Given the description of an element on the screen output the (x, y) to click on. 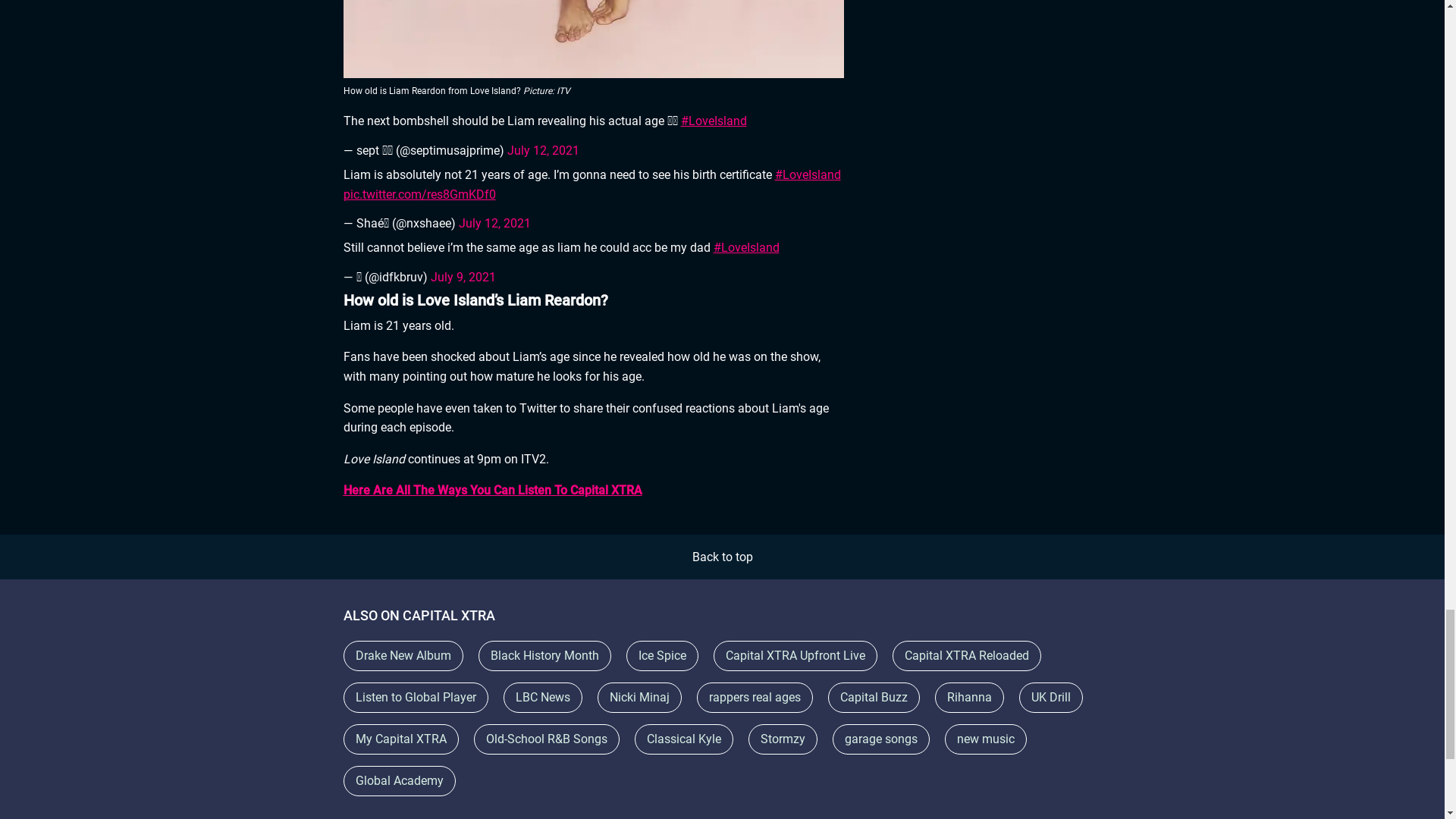
Back to top (721, 556)
